Given the description of an element on the screen output the (x, y) to click on. 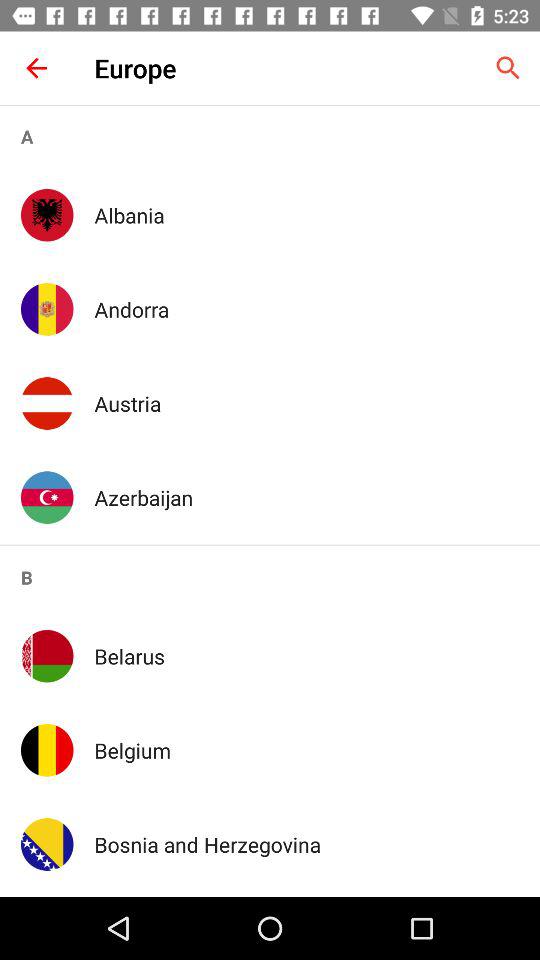
tap the app next to belgium icon (47, 750)
